Given the description of an element on the screen output the (x, y) to click on. 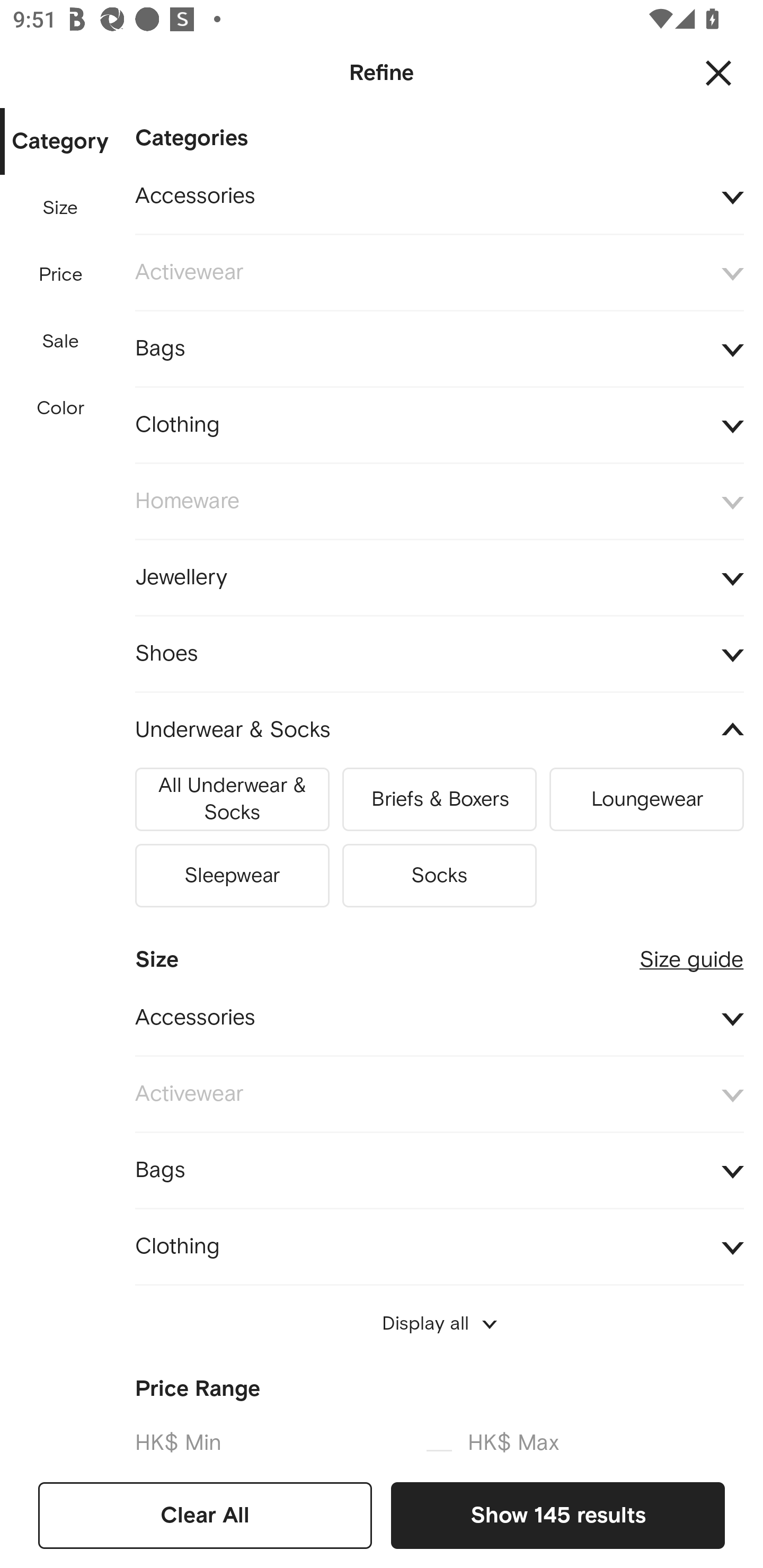
Category (60, 141)
Accessories (439, 196)
Size (60, 208)
Activewear (439, 272)
Price (60, 274)
Sale (60, 342)
Bags (439, 348)
Color (60, 408)
Clothing (439, 425)
Homeware (439, 501)
Jewellery (439, 577)
Shoes (439, 654)
Underwear & Socks (439, 730)
All Underwear & Socks (232, 798)
Briefs & Boxers (439, 798)
Loungewear (646, 798)
Sleepwear (232, 875)
Socks (439, 875)
Size guide (691, 952)
Accessories (439, 1018)
Activewear (439, 1094)
Bags (439, 1170)
Clothing (439, 1246)
Display all (439, 1323)
HK$ Min (272, 1437)
HK$ Max (605, 1437)
Clear All (205, 1515)
Show 145 results (557, 1515)
